Given the description of an element on the screen output the (x, y) to click on. 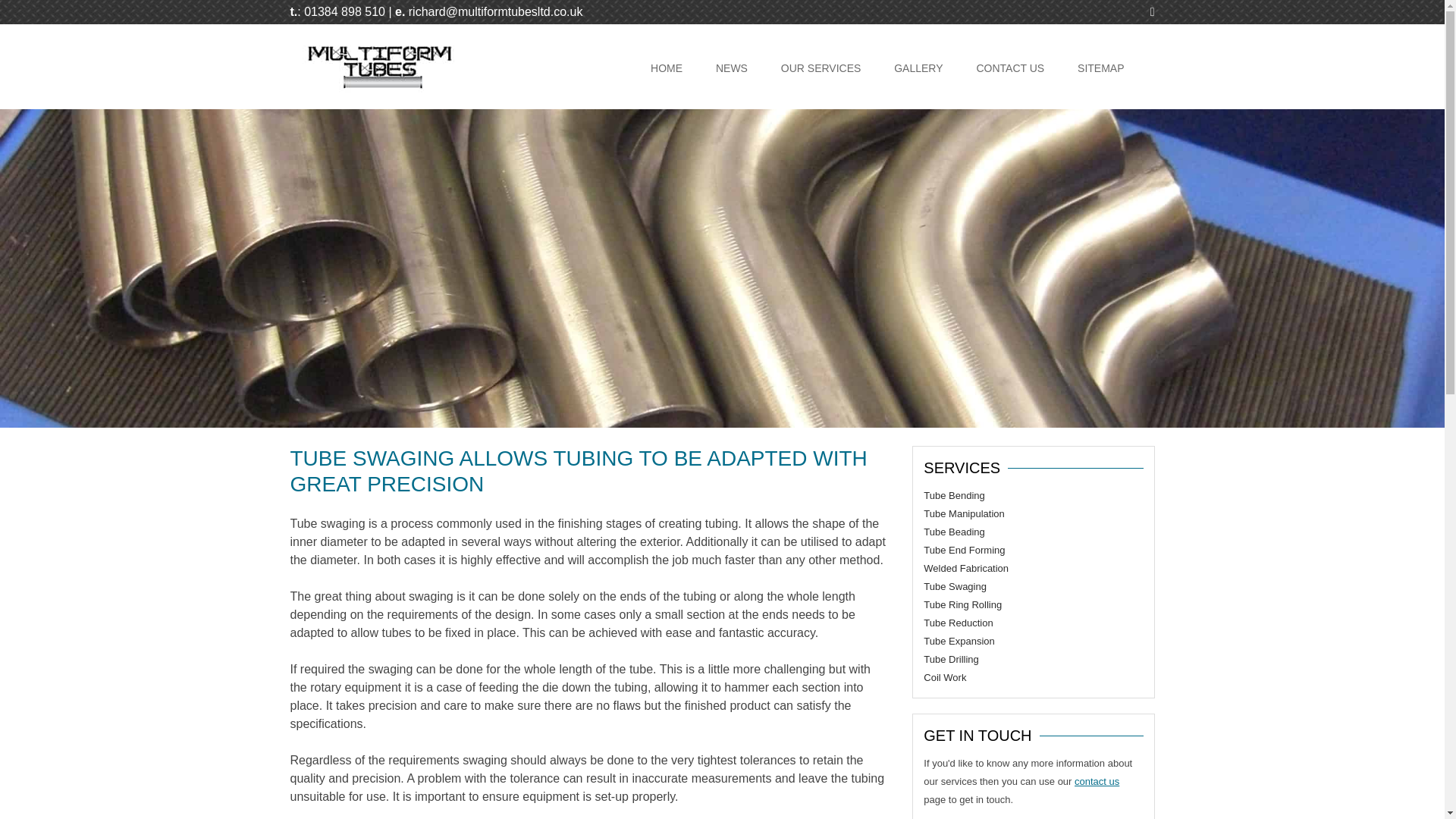
Tube Swaging (955, 586)
Welded Fabrication (966, 568)
Tube Drilling (950, 659)
Tube Reduction (957, 622)
Coil Work (944, 677)
Multiform Tubes Engineering (378, 88)
Contact Us (1096, 781)
Tube End Forming (963, 550)
Tube Manipulation (963, 513)
OUR SERVICES (820, 68)
CONTACT US (1009, 68)
Tube Expansion (958, 641)
GALLERY (917, 68)
SITEMAP (1100, 68)
